Given the description of an element on the screen output the (x, y) to click on. 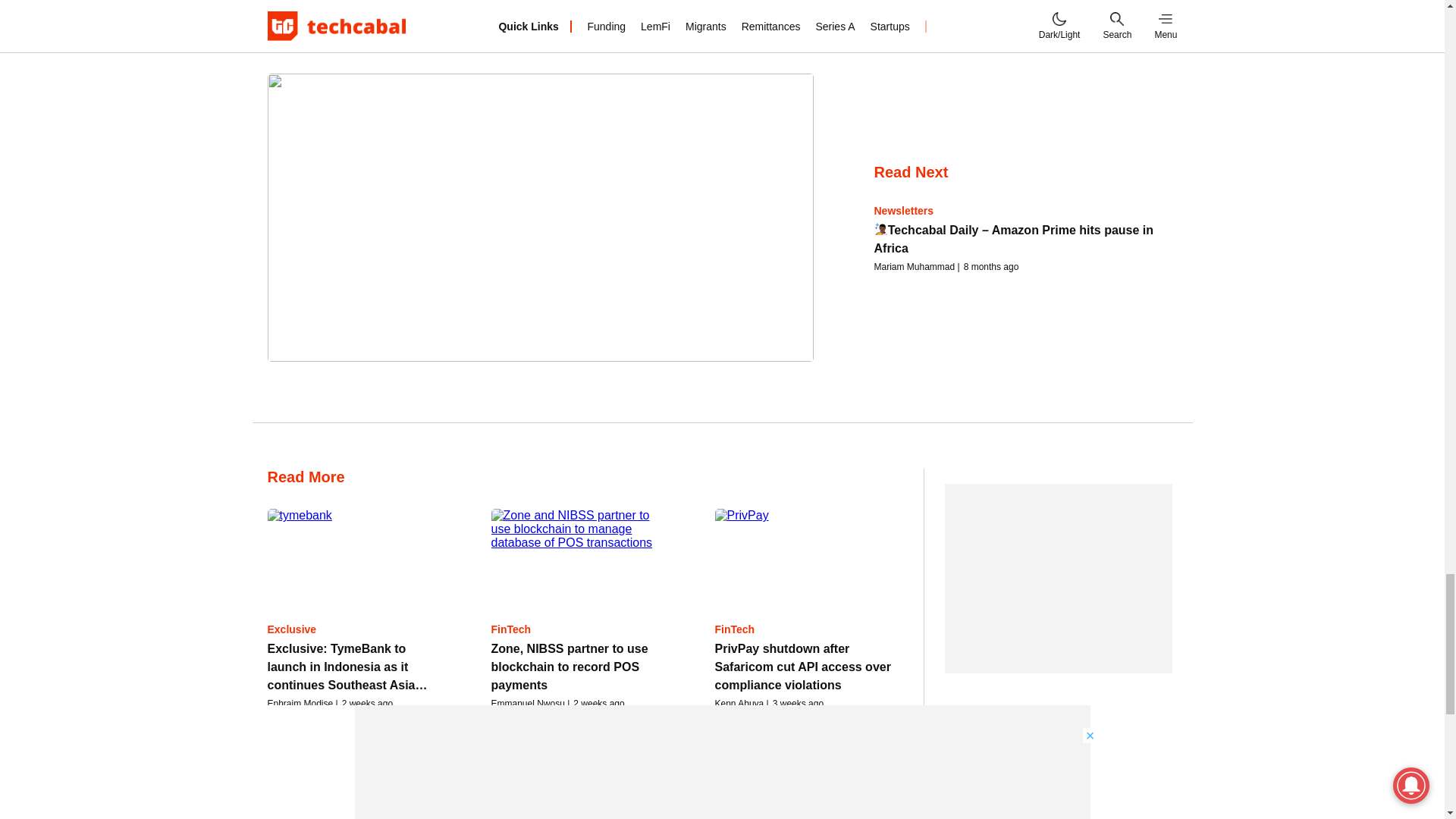
Posts by Emmanuel Nwosu (528, 703)
Posts by Kenn Abuya (738, 703)
Posts by Ephraim Modise (299, 703)
Posts by Mariam Muhammad (914, 266)
